Given the description of an element on the screen output the (x, y) to click on. 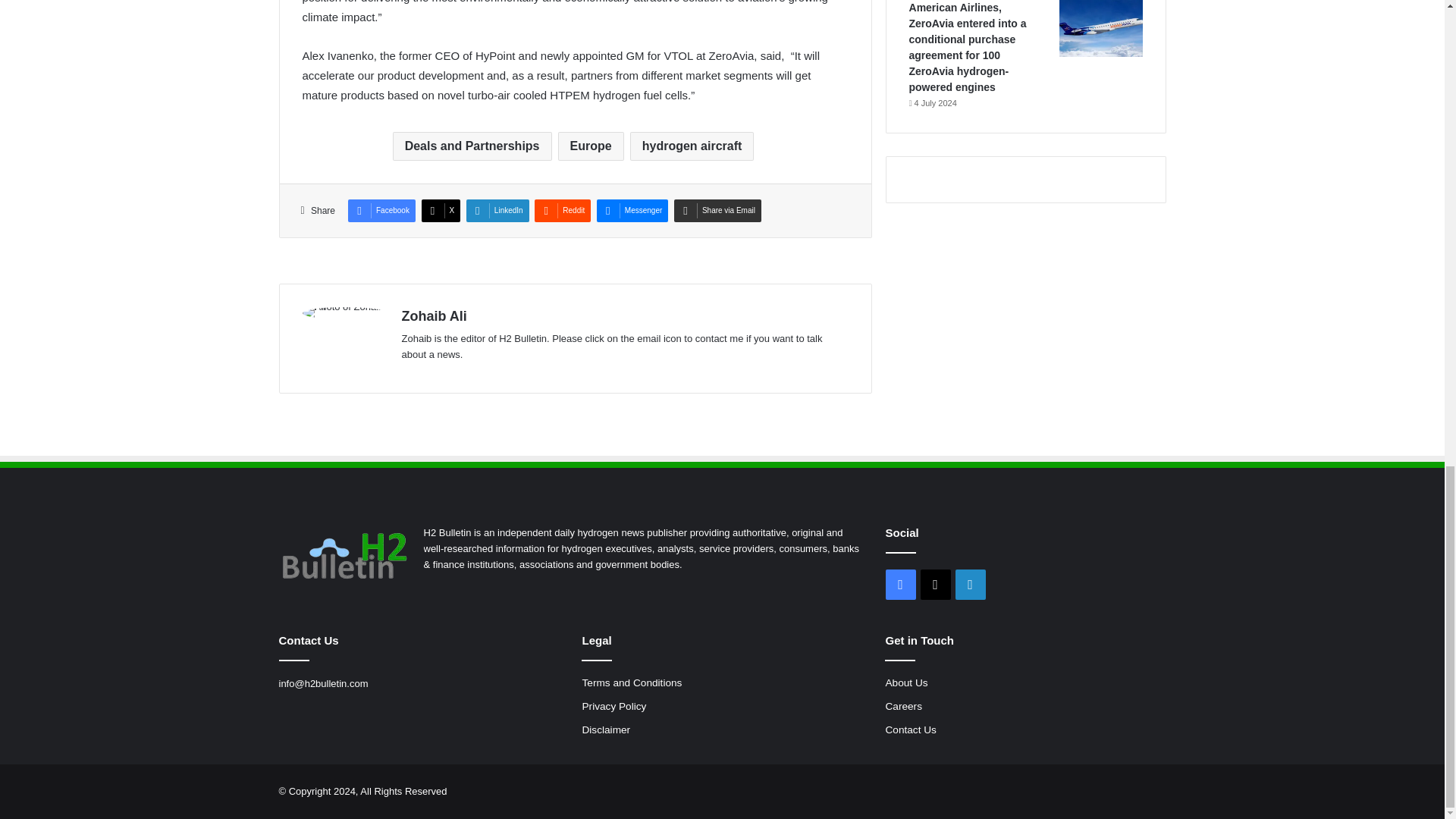
X (441, 210)
LinkedIn (497, 210)
Facebook (380, 210)
Reddit (562, 210)
Share via Email (717, 210)
Zohaib Ali (434, 315)
Facebook (380, 210)
Reddit (562, 210)
Messenger (632, 210)
X (441, 210)
LinkedIn (497, 210)
Messenger (632, 210)
Deals and Partnerships (472, 145)
hydrogen aircraft (692, 145)
Europe (590, 145)
